Given the description of an element on the screen output the (x, y) to click on. 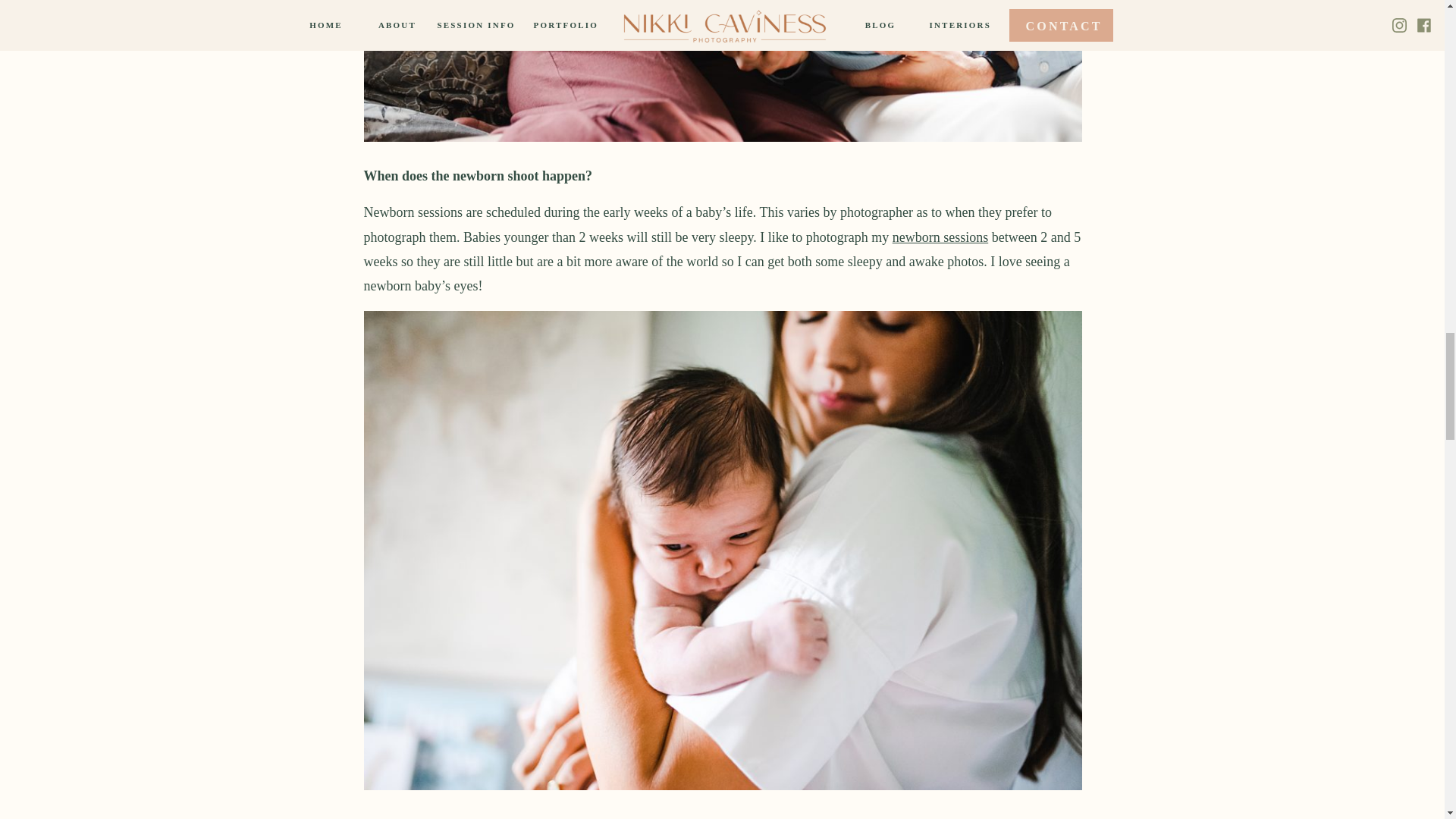
newborn sessions (940, 237)
